Given the description of an element on the screen output the (x, y) to click on. 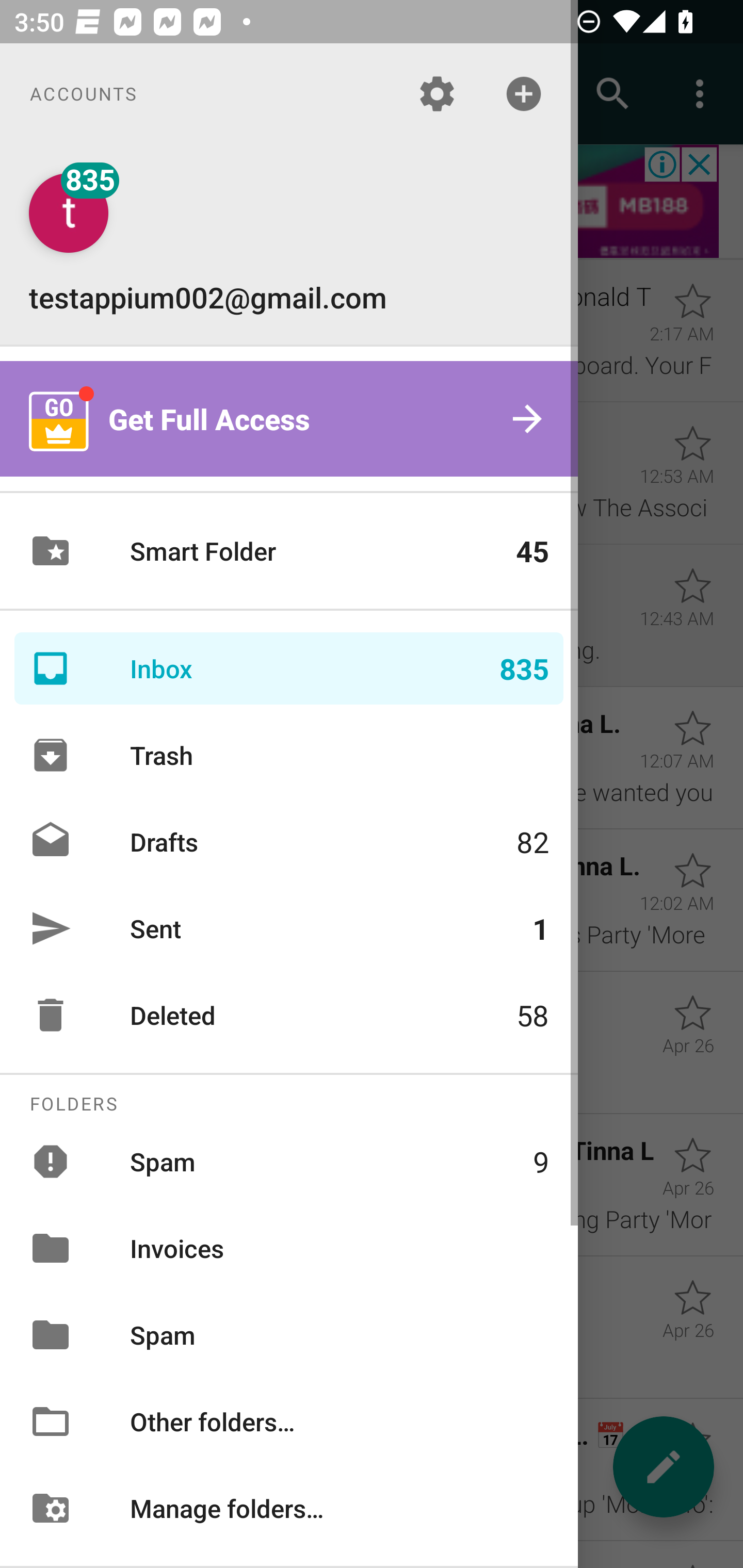
testappium002@gmail.com (289, 244)
Get Full Access (289, 418)
Smart Folder 45 (289, 551)
Inbox 835 (289, 668)
Trash (289, 754)
Drafts 82 (289, 841)
Sent 1 (289, 928)
Deleted 58 (289, 1015)
Spam 9 (289, 1160)
Invoices (289, 1248)
Spam (289, 1335)
Other folders… (289, 1421)
Manage folders… (289, 1507)
